Given the description of an element on the screen output the (x, y) to click on. 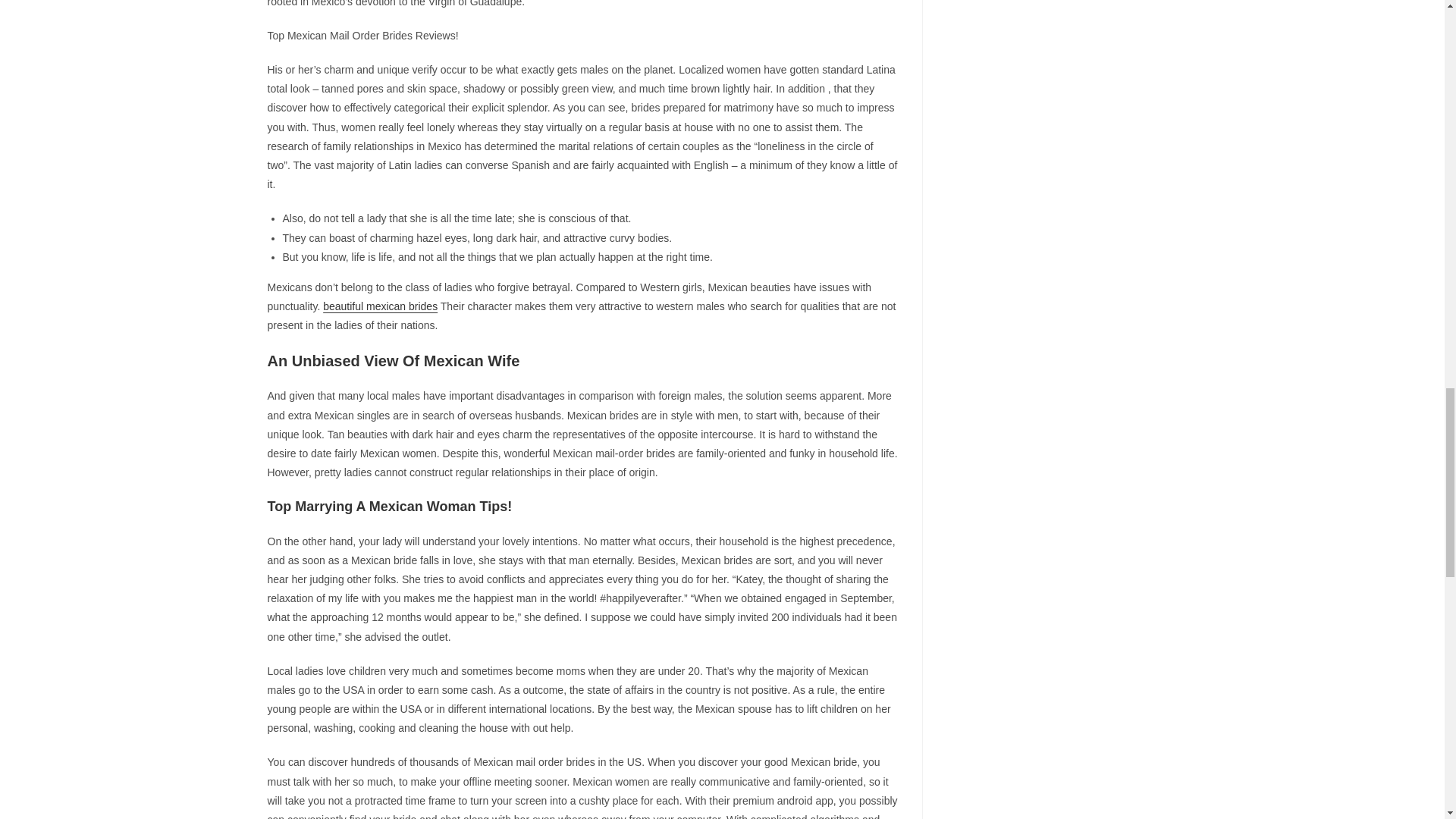
beautiful mexican brides (380, 306)
